Given the description of an element on the screen output the (x, y) to click on. 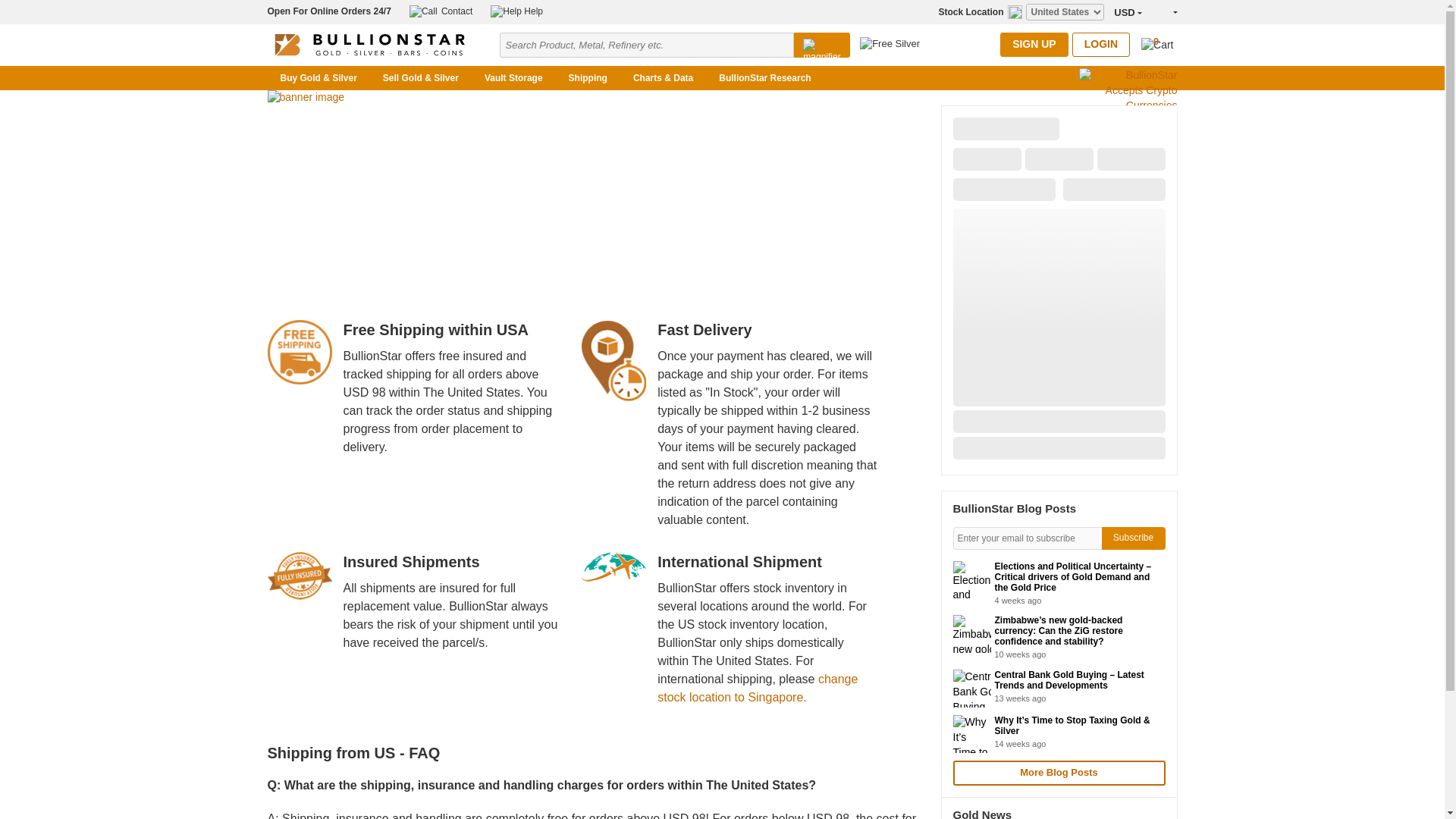
Contact (440, 11)
Help (516, 11)
LOGIN (1100, 44)
SIGN UP (1034, 44)
